Given the description of an element on the screen output the (x, y) to click on. 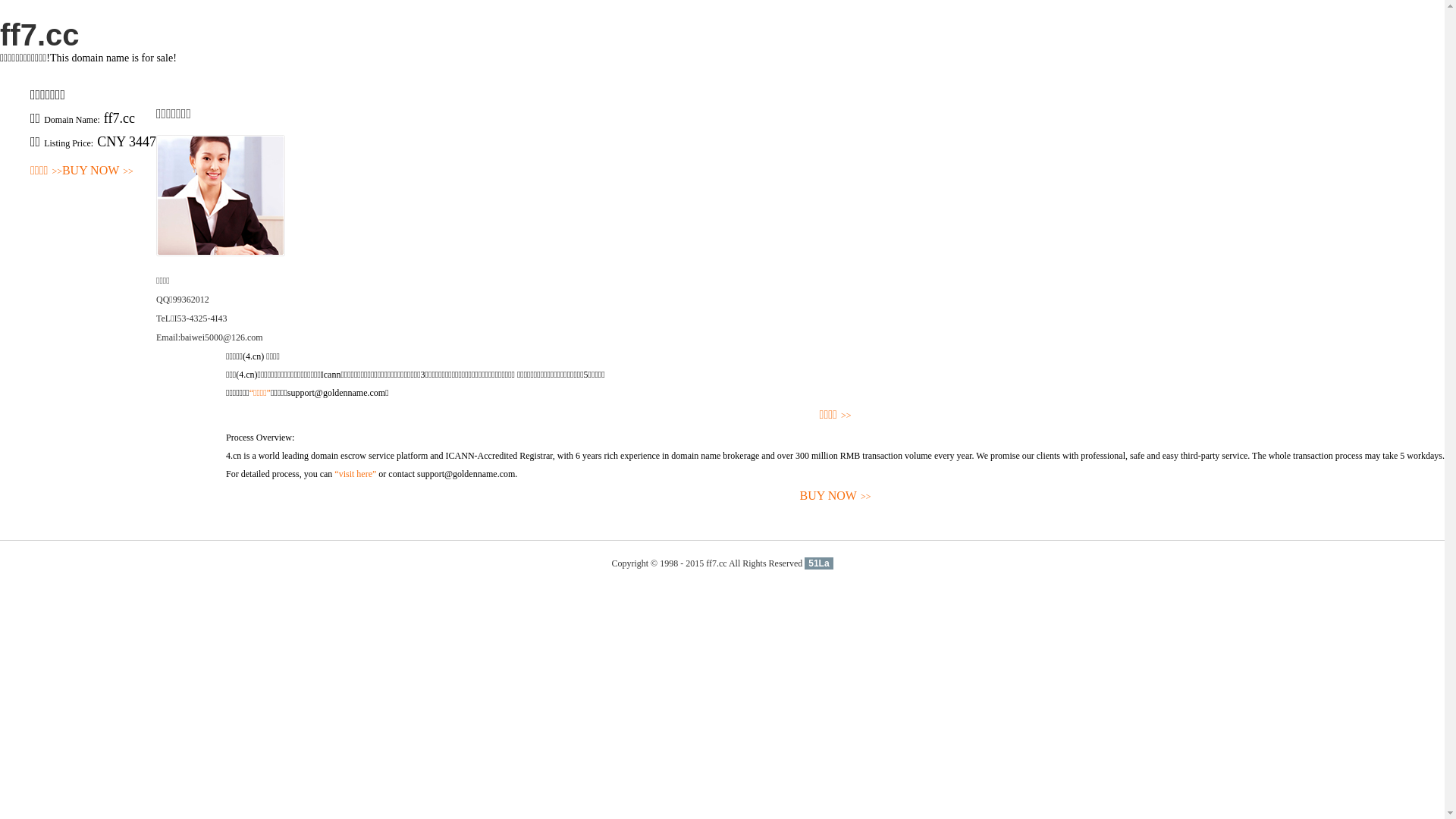
51La Element type: text (818, 563)
BUY NOW>> Element type: text (834, 496)
BUY NOW>> Element type: text (97, 170)
